Given the description of an element on the screen output the (x, y) to click on. 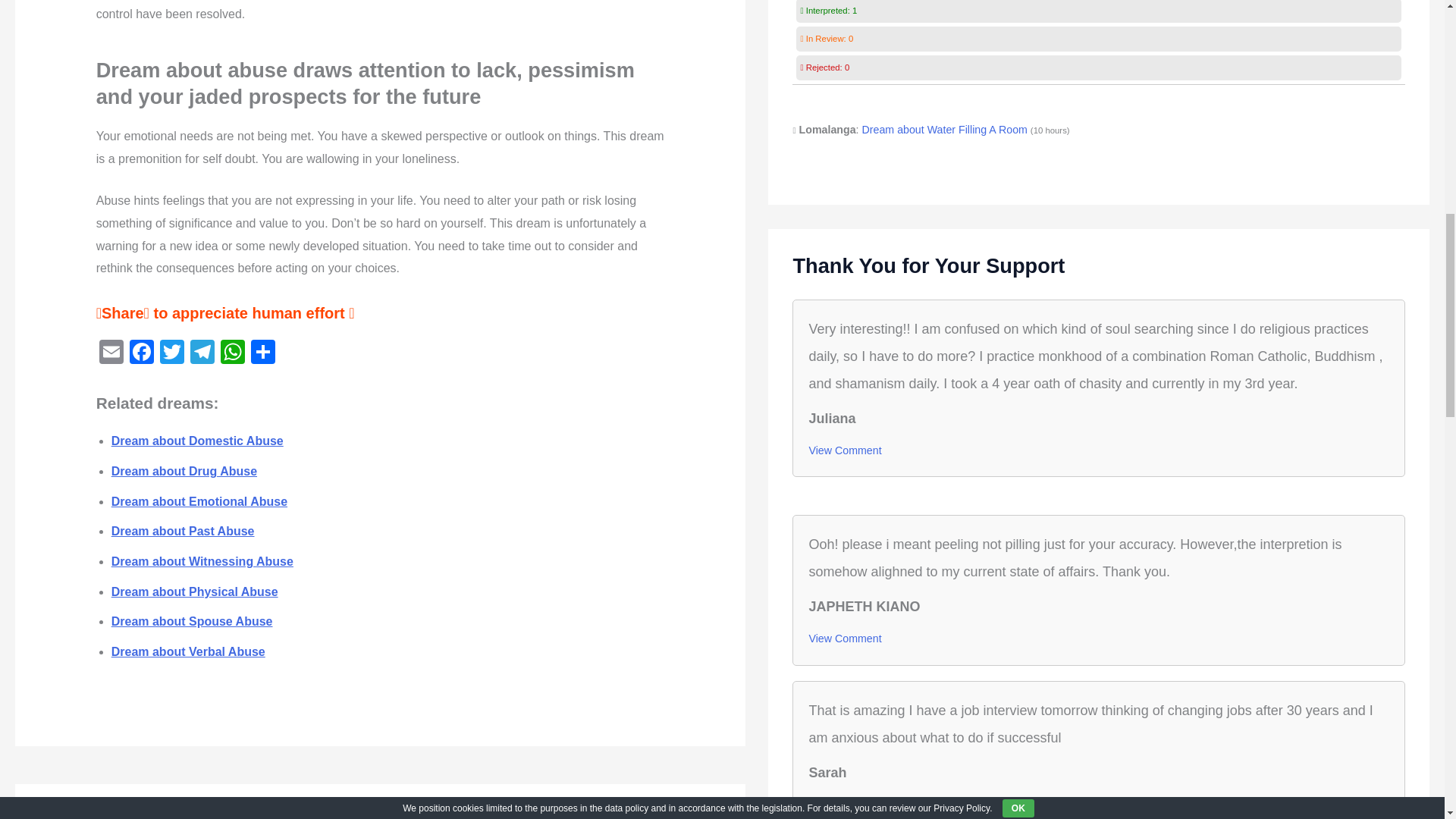
Telegram (201, 353)
Dream about Verbal Abuse (188, 651)
Dream about Physical Abuse (195, 591)
Dream about Drug Abuse (184, 471)
Dream about Emotional Abuse (199, 501)
Dream about Domestic Abuse (197, 440)
Dream about Domestic Abuse (197, 440)
Twitter (172, 353)
WhatsApp (231, 353)
Dream about Witnessing Abuse (203, 561)
Facebook (141, 353)
Facebook (141, 353)
Email (111, 353)
Dream about Past Abuse (183, 530)
WhatsApp (231, 353)
